Given the description of an element on the screen output the (x, y) to click on. 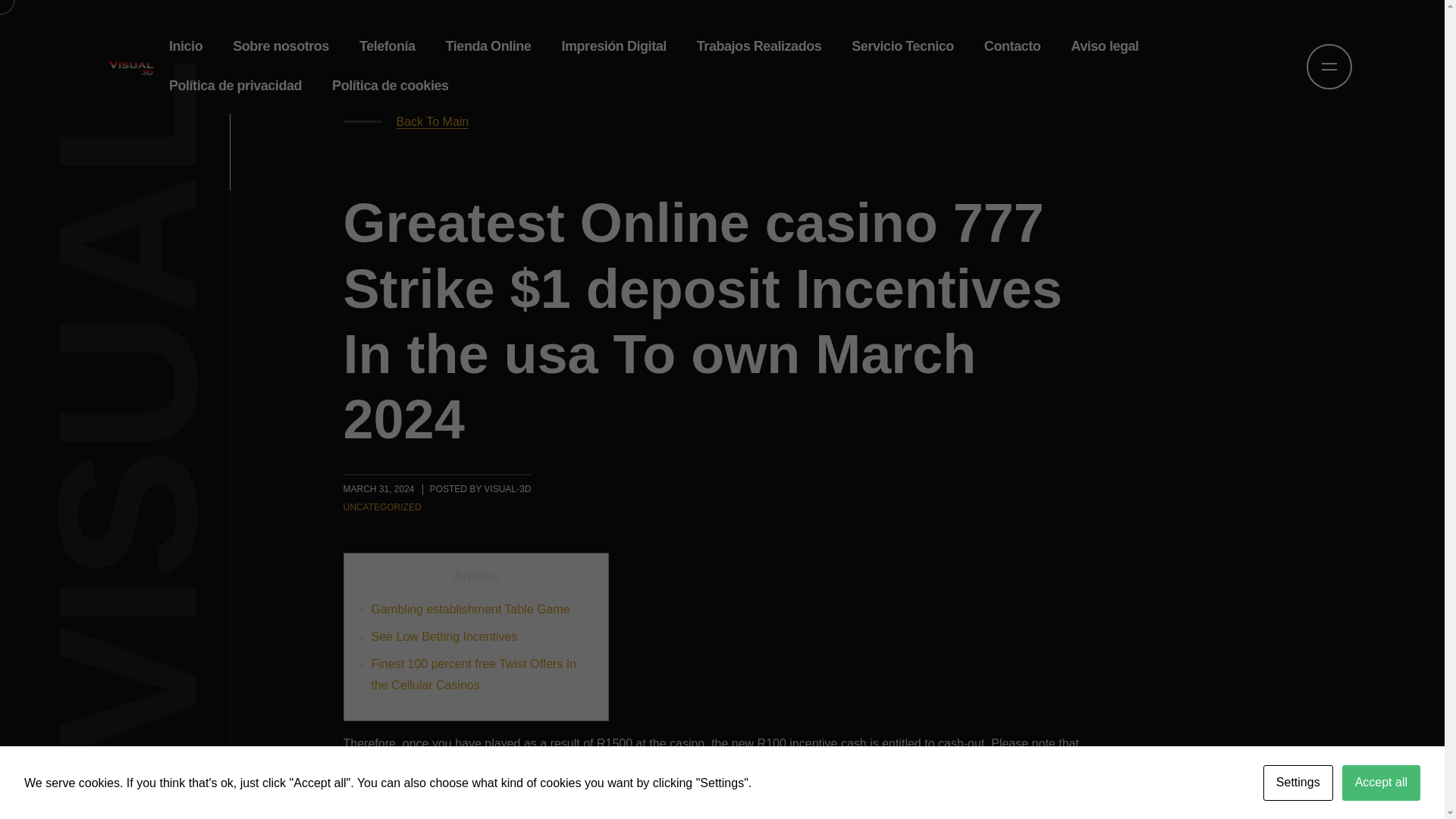
Aviso legal (1104, 46)
Sobre nosotros (279, 46)
Inicio (185, 46)
Contacto (1012, 46)
Tienda Online (488, 46)
Servicio Tecnico (902, 46)
Trabajos Realizados (759, 46)
